Given the description of an element on the screen output the (x, y) to click on. 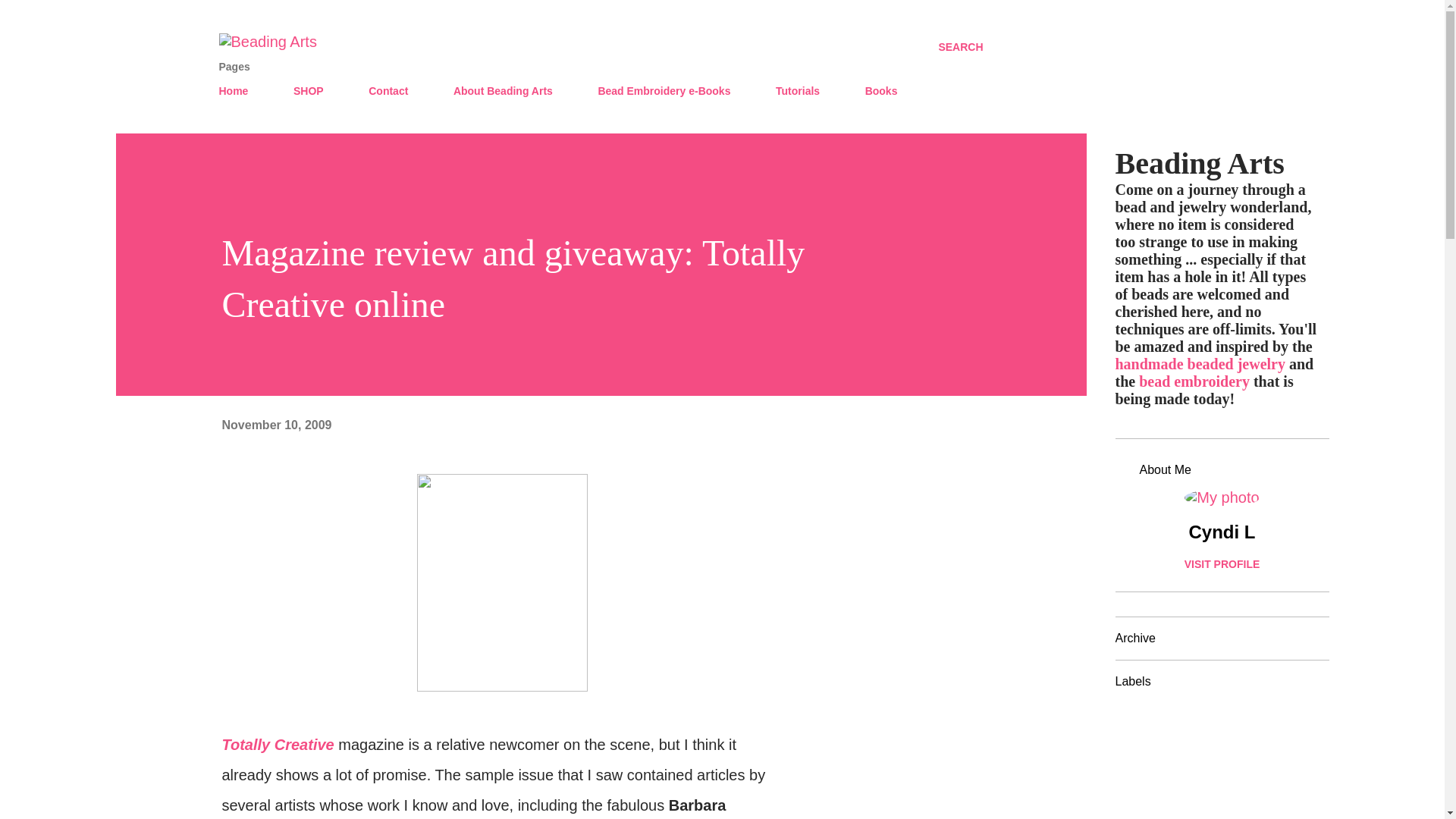
About Beading Arts (503, 91)
Books (881, 91)
Contact (387, 91)
Totally Creative (277, 744)
November 10, 2009 (276, 424)
SHOP (308, 91)
Home (237, 91)
permanent link (276, 424)
Bead Embroidery e-Books (663, 91)
SEARCH (959, 46)
Tutorials (797, 91)
